Given the description of an element on the screen output the (x, y) to click on. 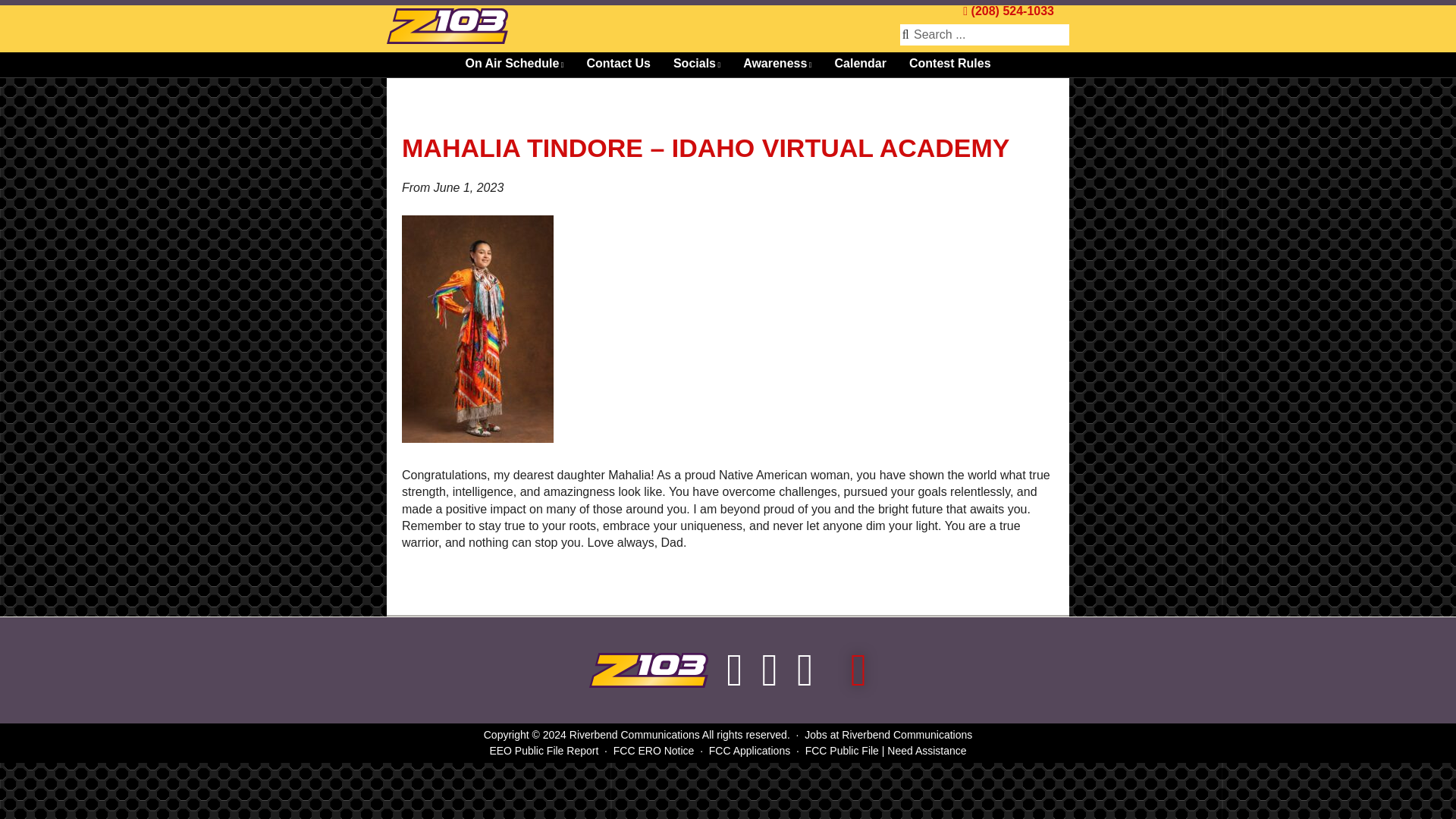
On Air Schedule (513, 63)
Contest Rules (950, 63)
Socials (697, 63)
Contact Us (618, 63)
Search (21, 8)
Awareness (777, 63)
Calendar (859, 63)
Search (989, 34)
